Given the description of an element on the screen output the (x, y) to click on. 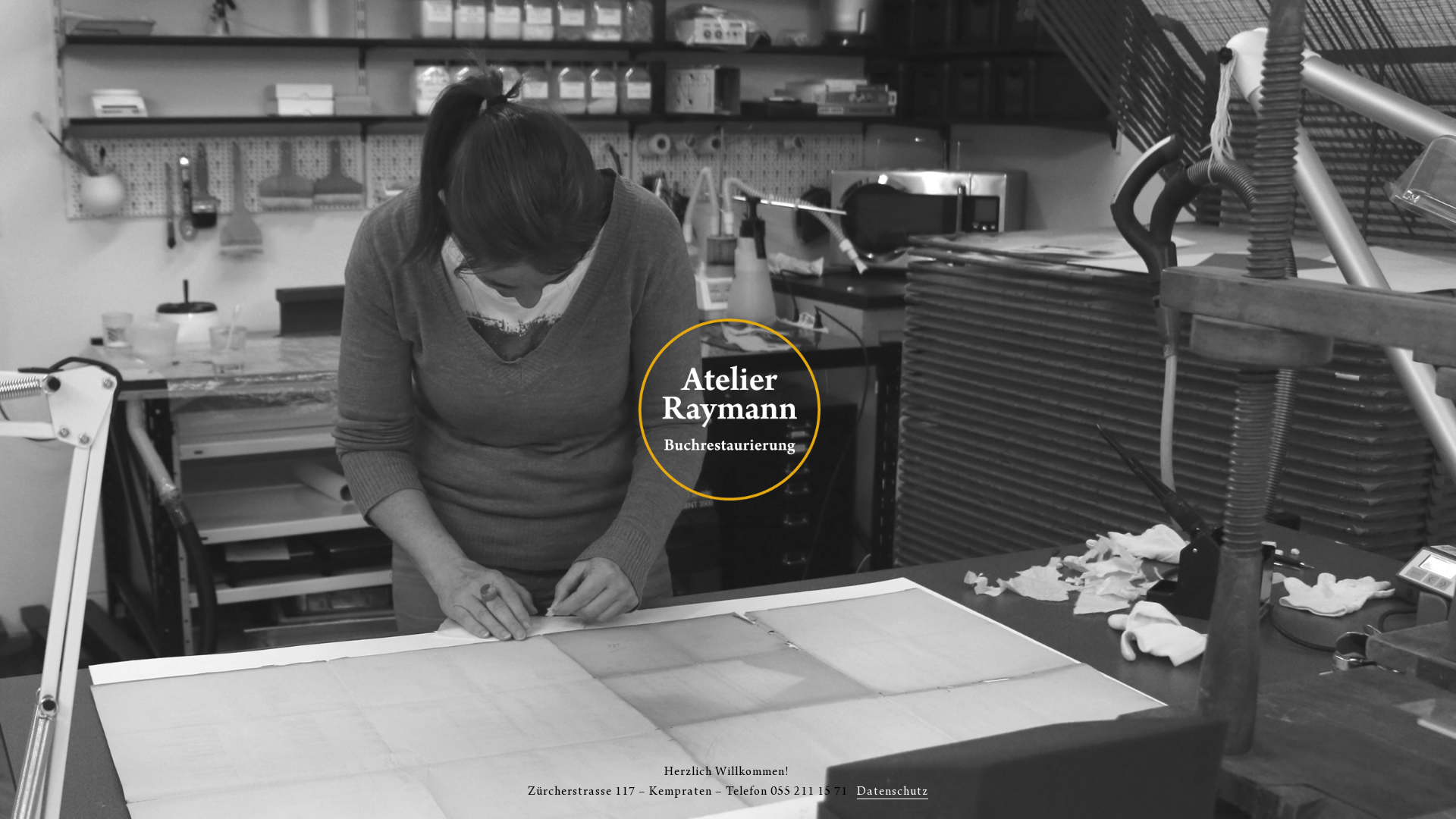
Datenschutz Element type: text (892, 792)
